Given the description of an element on the screen output the (x, y) to click on. 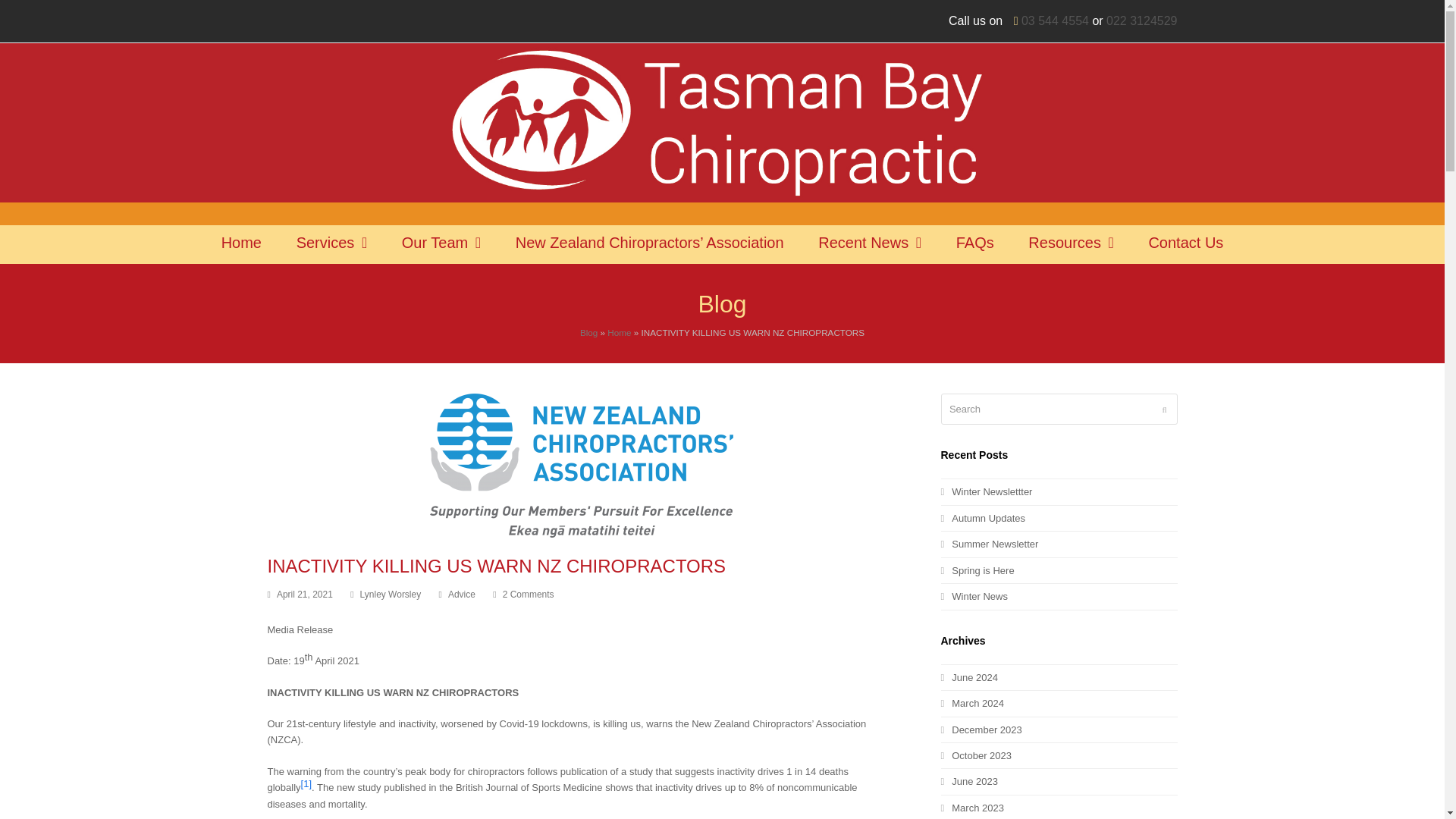
022 3124529 (1141, 20)
Home (241, 244)
Contact Us (1185, 244)
FAQs (975, 244)
03 544 4554 (1055, 20)
Advice (462, 593)
2 Comments (523, 595)
Our Team (440, 244)
Services (332, 244)
Resources (1070, 244)
